Given the description of an element on the screen output the (x, y) to click on. 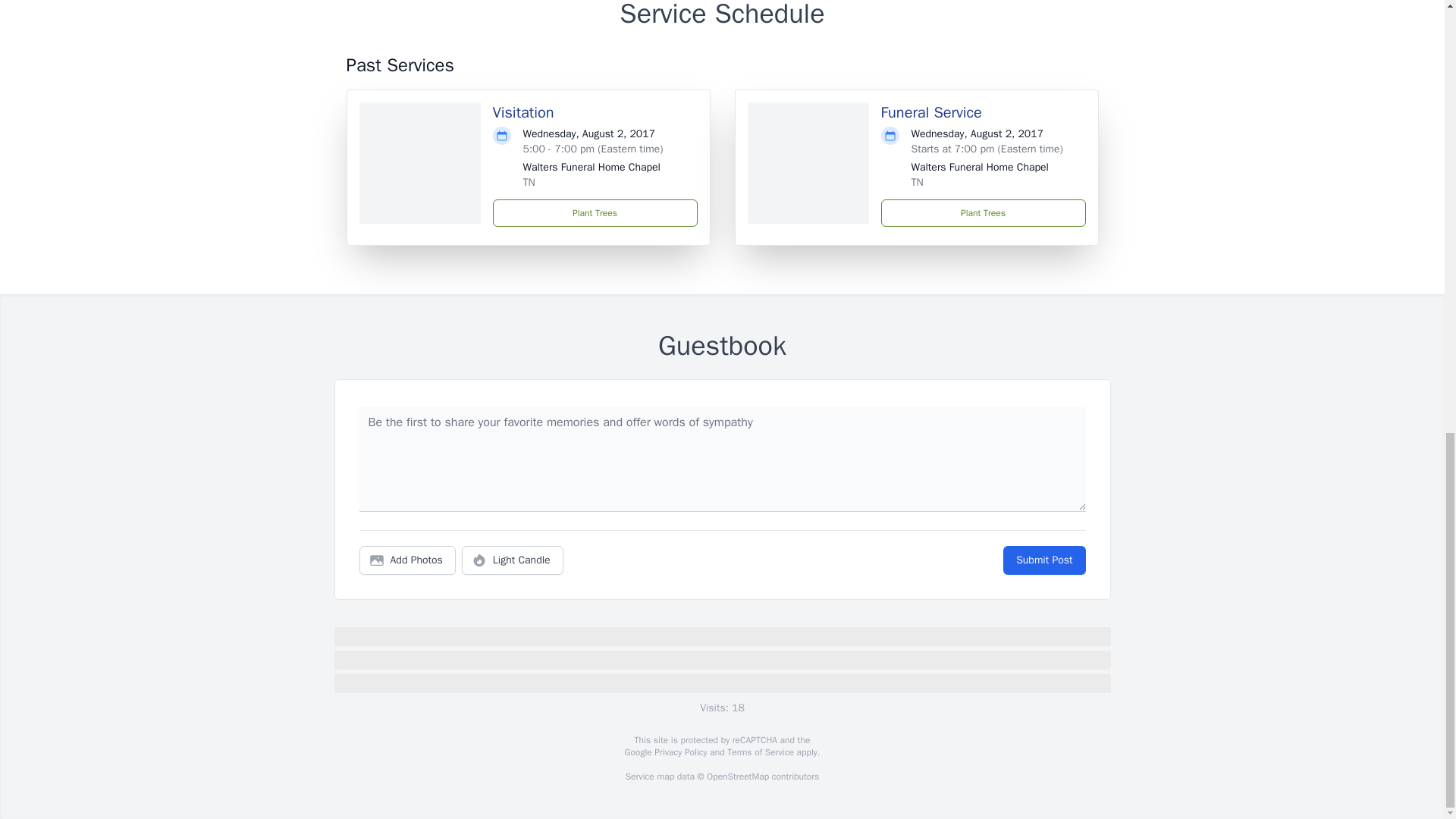
Plant Trees (983, 212)
TN (528, 182)
Privacy Policy (679, 752)
Terms of Service (759, 752)
Add Photos (407, 560)
Submit Post (1043, 560)
TN (917, 182)
OpenStreetMap (737, 776)
Light Candle (512, 560)
Plant Trees (595, 212)
